Given the description of an element on the screen output the (x, y) to click on. 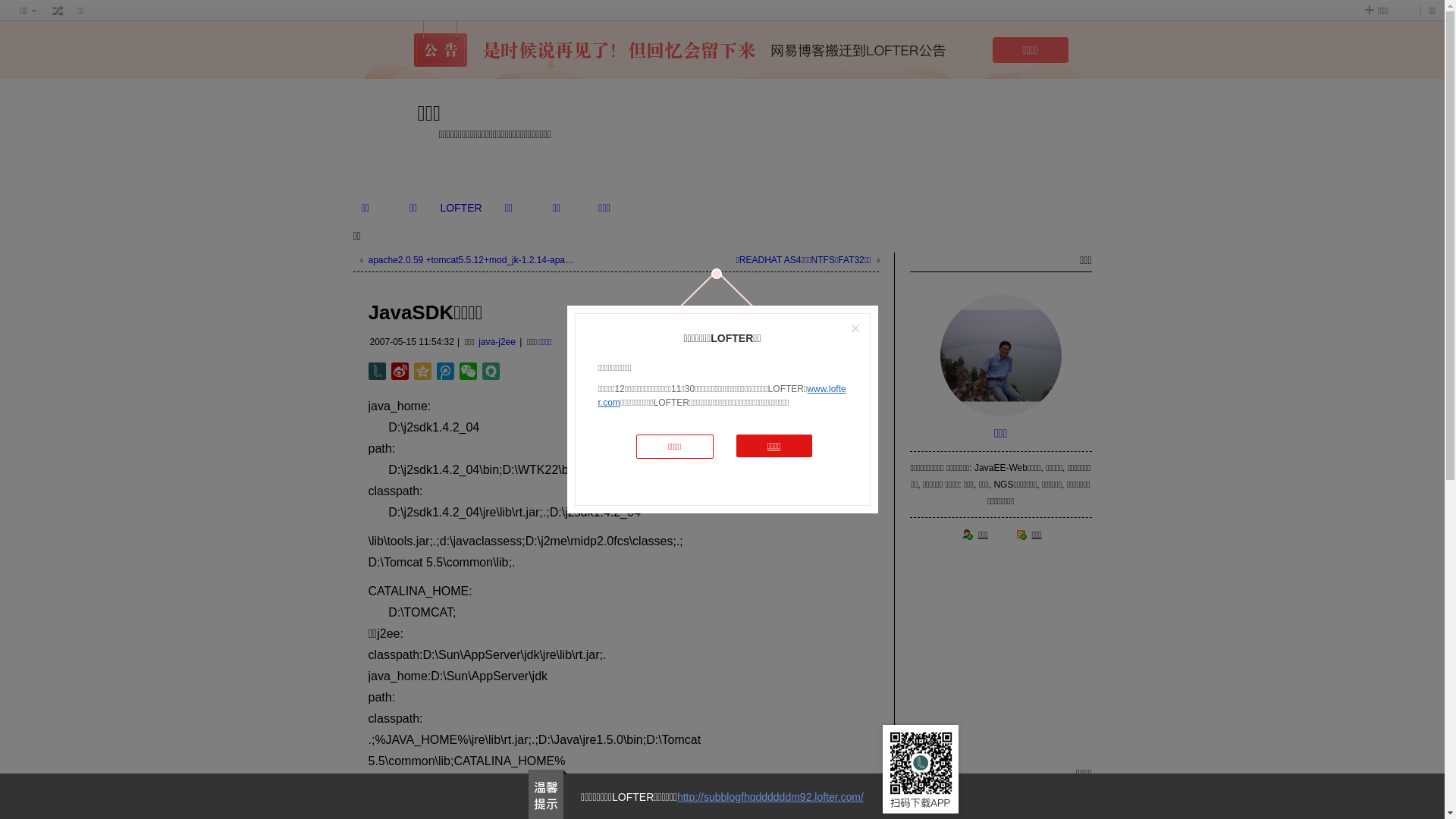
  Element type: text (58, 10)
LOFTER Element type: text (460, 207)
java-j2ee Element type: text (496, 341)
www.lofter.com Element type: text (721, 395)
http://subblogfhqddddddm92.lofter.com/ Element type: text (770, 796)
